Given the description of an element on the screen output the (x, y) to click on. 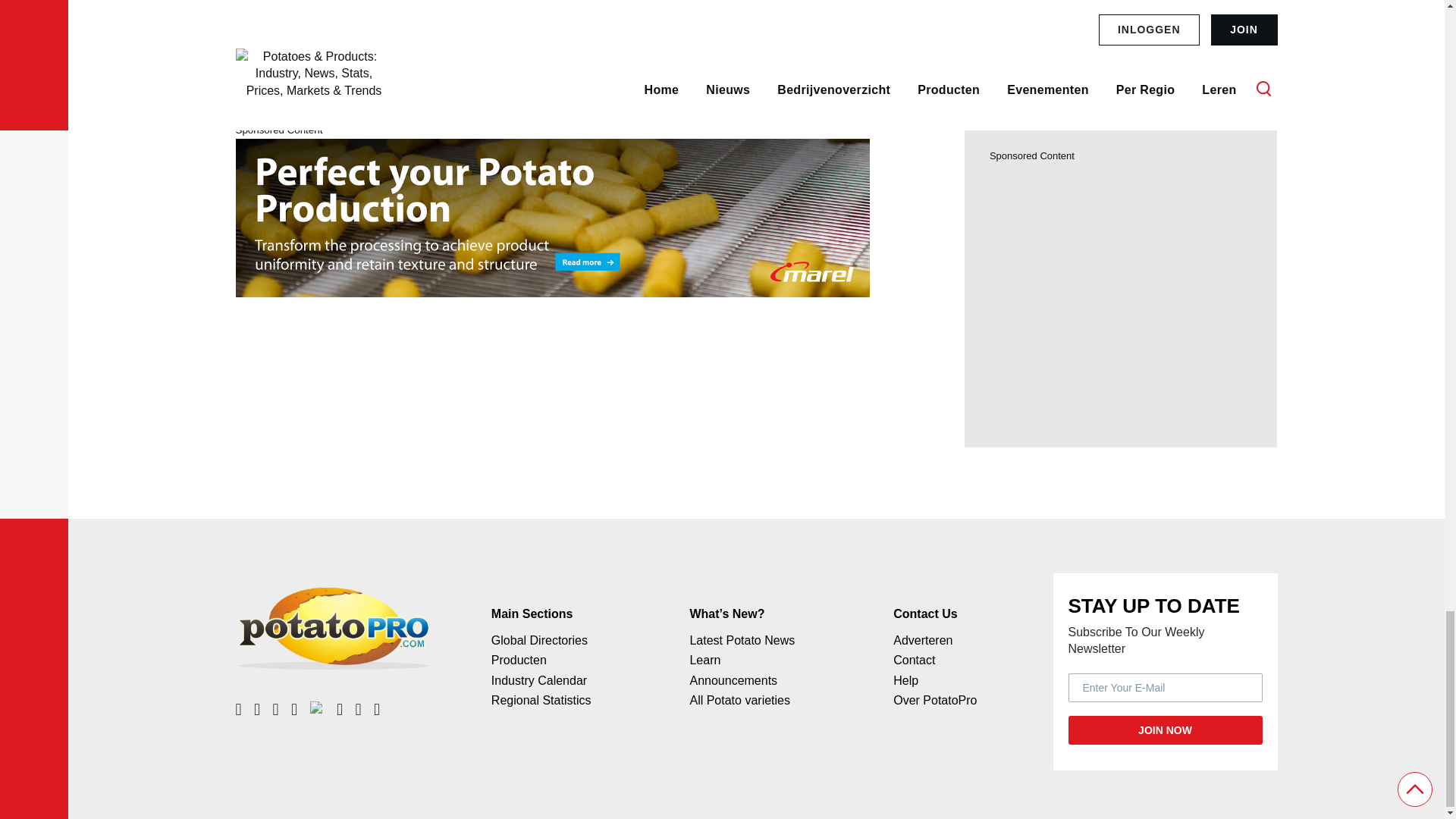
JOIN NOW (1164, 729)
